Given the description of an element on the screen output the (x, y) to click on. 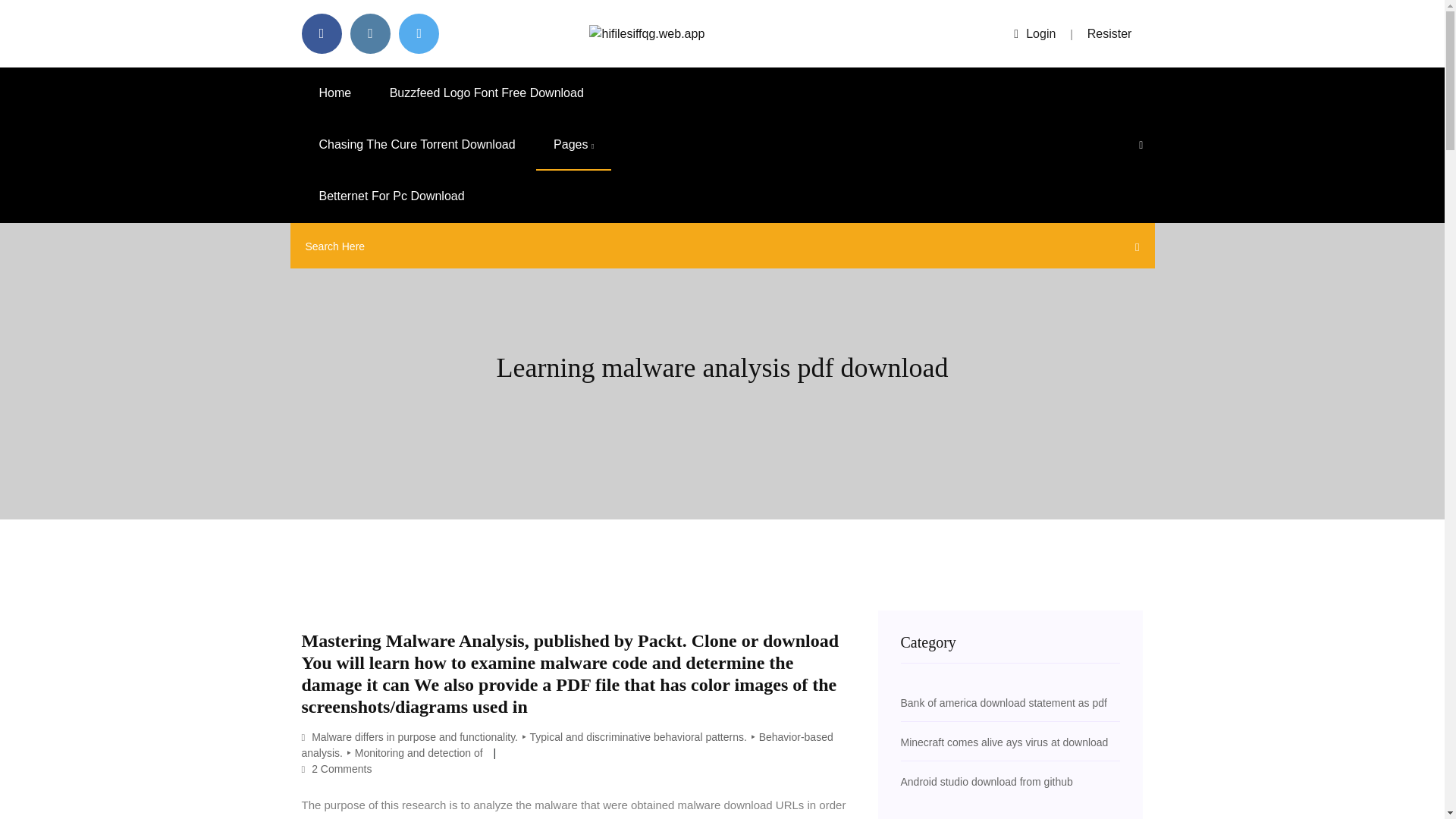
Home (335, 92)
Pages (573, 144)
2 Comments (336, 768)
Login (1034, 33)
Buzzfeed Logo Font Free Download (486, 92)
Betternet For Pc Download (391, 195)
Chasing The Cure Torrent Download (416, 144)
Resister (1109, 33)
